Given the description of an element on the screen output the (x, y) to click on. 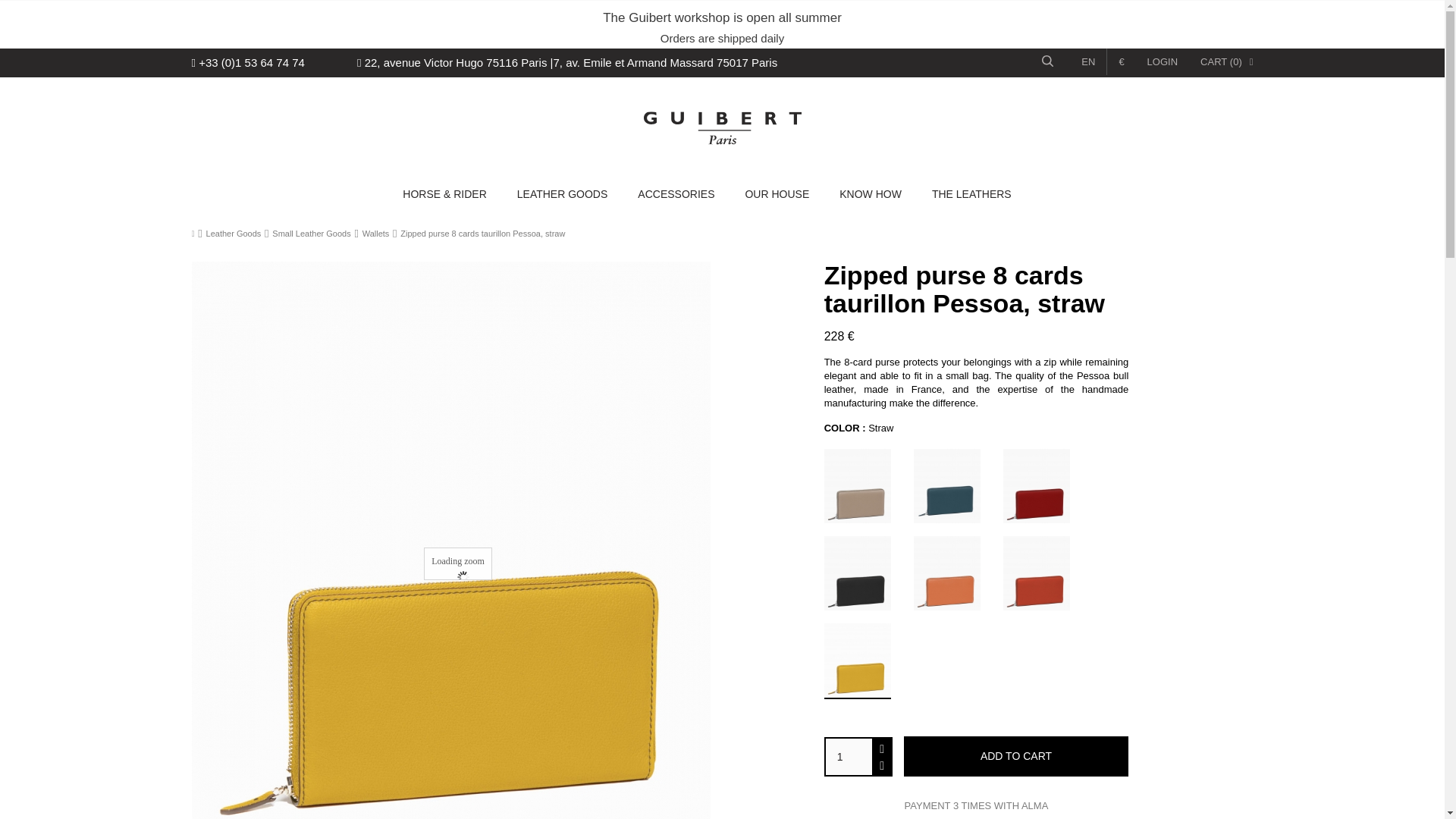
LOGIN (1162, 61)
1 (850, 756)
Guibert Paris (721, 127)
LEATHER GOODS (562, 194)
View my shopping cart (1225, 61)
Log in to your customer account (1162, 61)
